Given the description of an element on the screen output the (x, y) to click on. 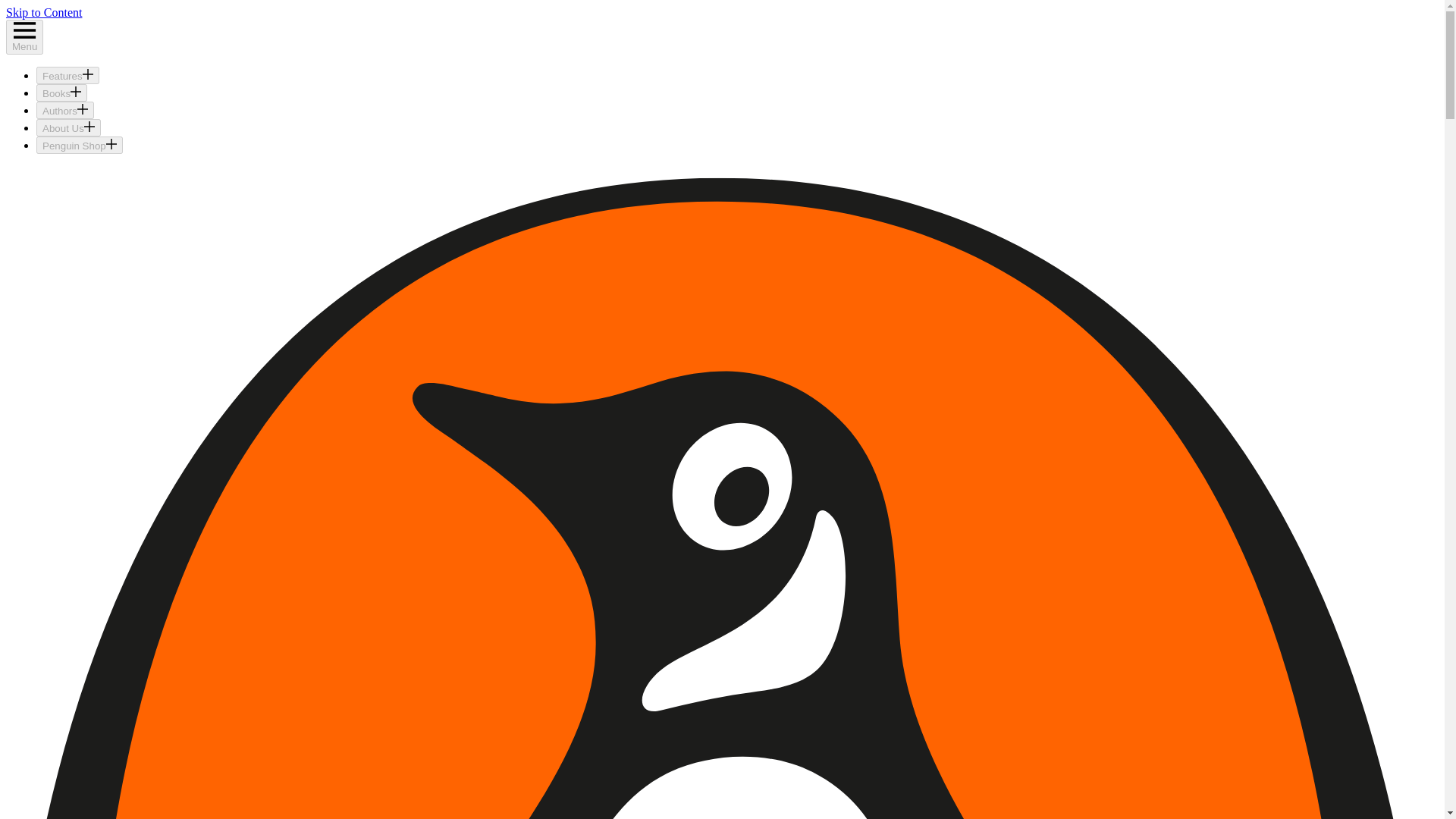
Authors (65, 109)
Features (67, 75)
Skip to Content (43, 11)
About Us (68, 127)
Penguin Shop (79, 144)
Menu (24, 36)
Books (61, 92)
